Given the description of an element on the screen output the (x, y) to click on. 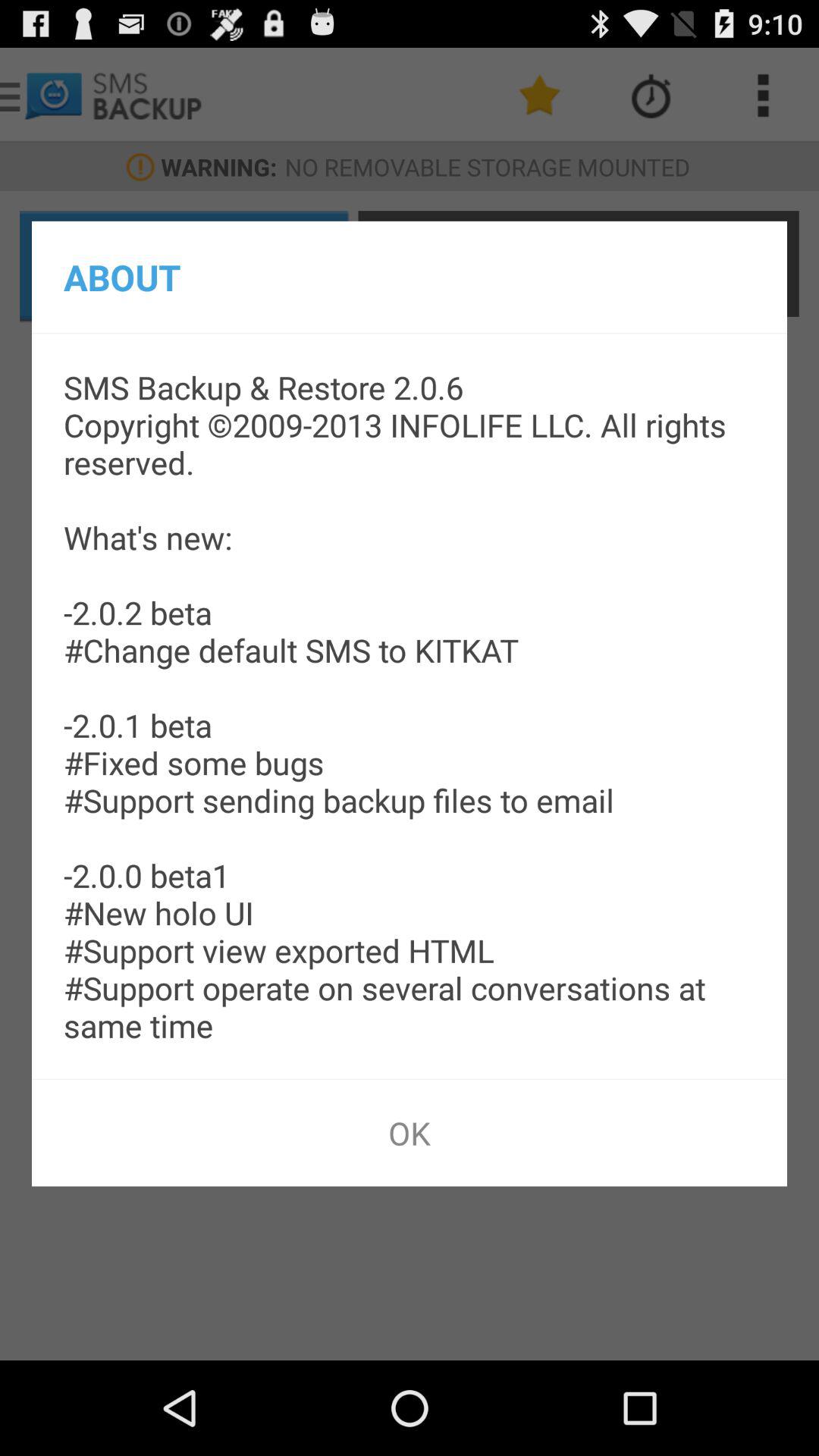
jump until sms backup restore icon (409, 705)
